Given the description of an element on the screen output the (x, y) to click on. 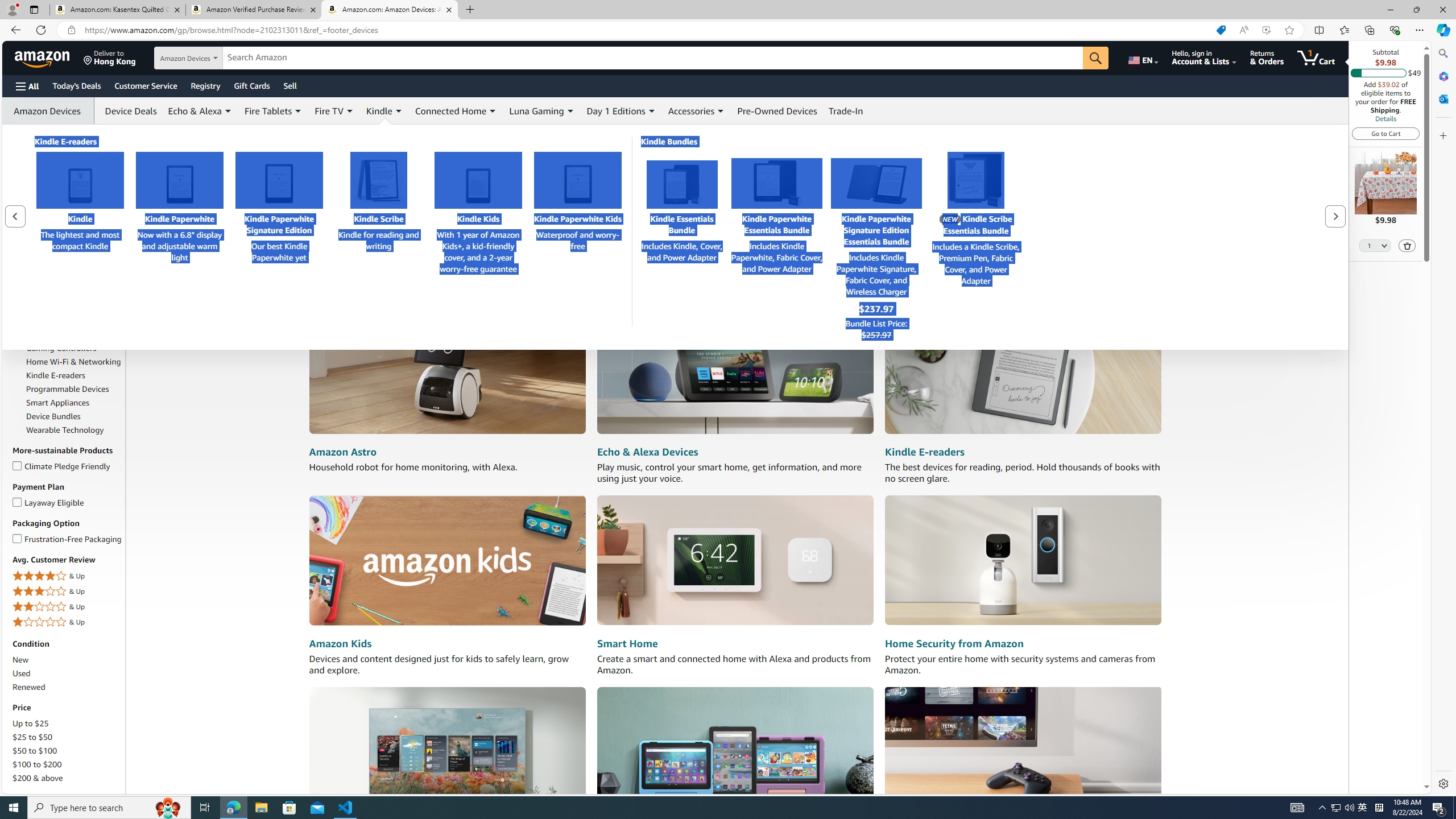
New (21, 659)
Last 30 days (34, 154)
Delete (1407, 245)
Frustration-Free Packaging (17, 536)
Smart Home devices (734, 560)
Kindle Paperwhite Kids (577, 179)
Fire Tablets (74, 333)
Sell (290, 85)
Day 1 Editions (615, 110)
Kindle Paperwhite Signature Edition (279, 179)
